Given the description of an element on the screen output the (x, y) to click on. 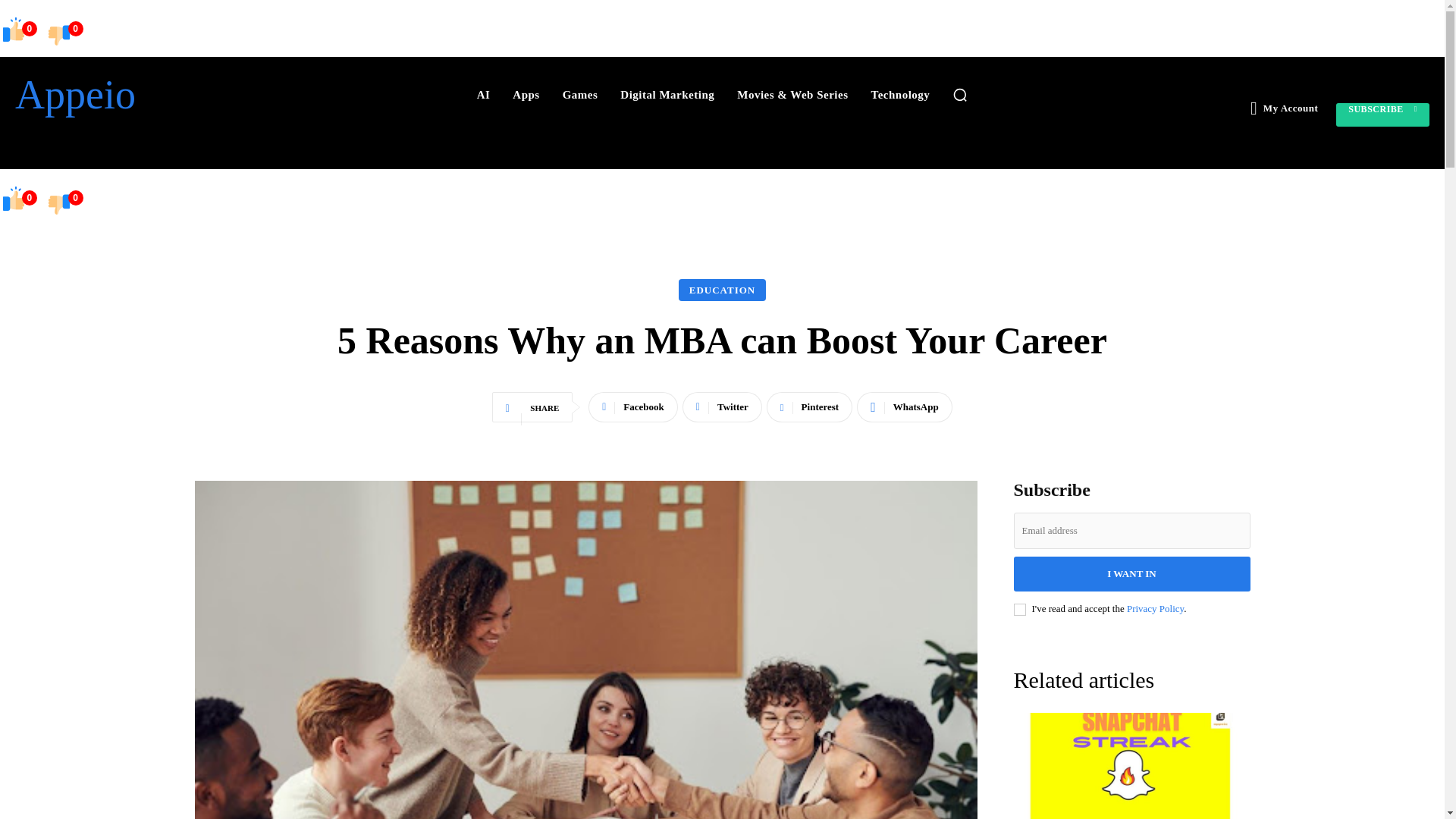
Twitter (721, 407)
Appeio (127, 94)
Digital Marketing (667, 94)
SUBSCRIBE (1382, 114)
Appeio (127, 94)
Technology (900, 94)
Subscribe (1382, 114)
Facebook (633, 407)
